Given the description of an element on the screen output the (x, y) to click on. 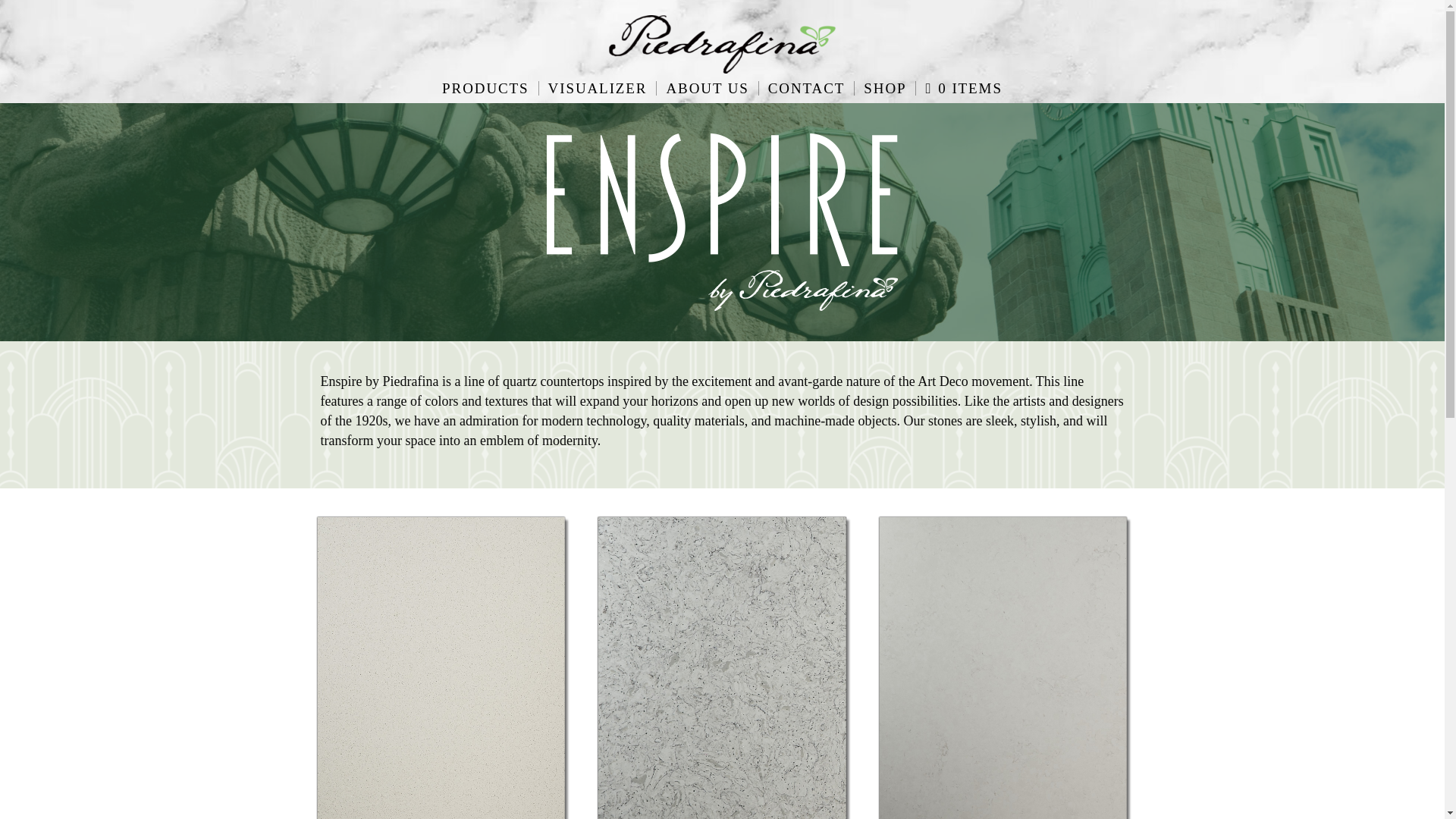
ABOUT US (706, 87)
Alpine (440, 708)
VISUALIZER (597, 87)
Aurora (1003, 708)
piedrafinalogo (721, 44)
Start shopping (962, 87)
SHOP (884, 87)
CONTACT (806, 87)
Aspen Frost (722, 708)
PRODUCTS (484, 87)
0 ITEMS (962, 87)
